Given the description of an element on the screen output the (x, y) to click on. 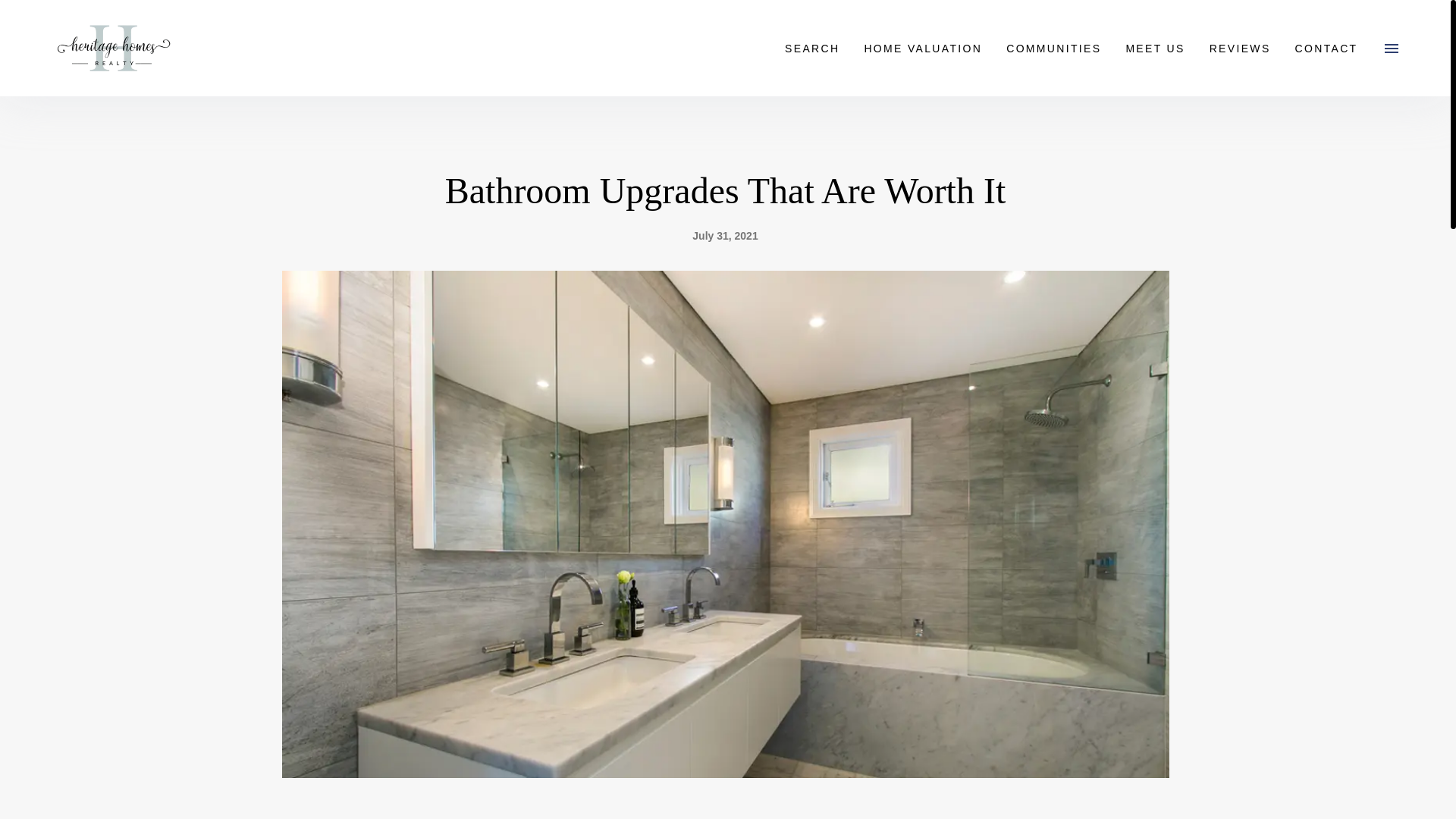
COMMUNITIES (1053, 47)
SEARCH (812, 47)
REVIEWS (1239, 47)
HOME VALUATION (922, 47)
CONTACT (1326, 47)
MEET US (1154, 47)
